Given the description of an element on the screen output the (x, y) to click on. 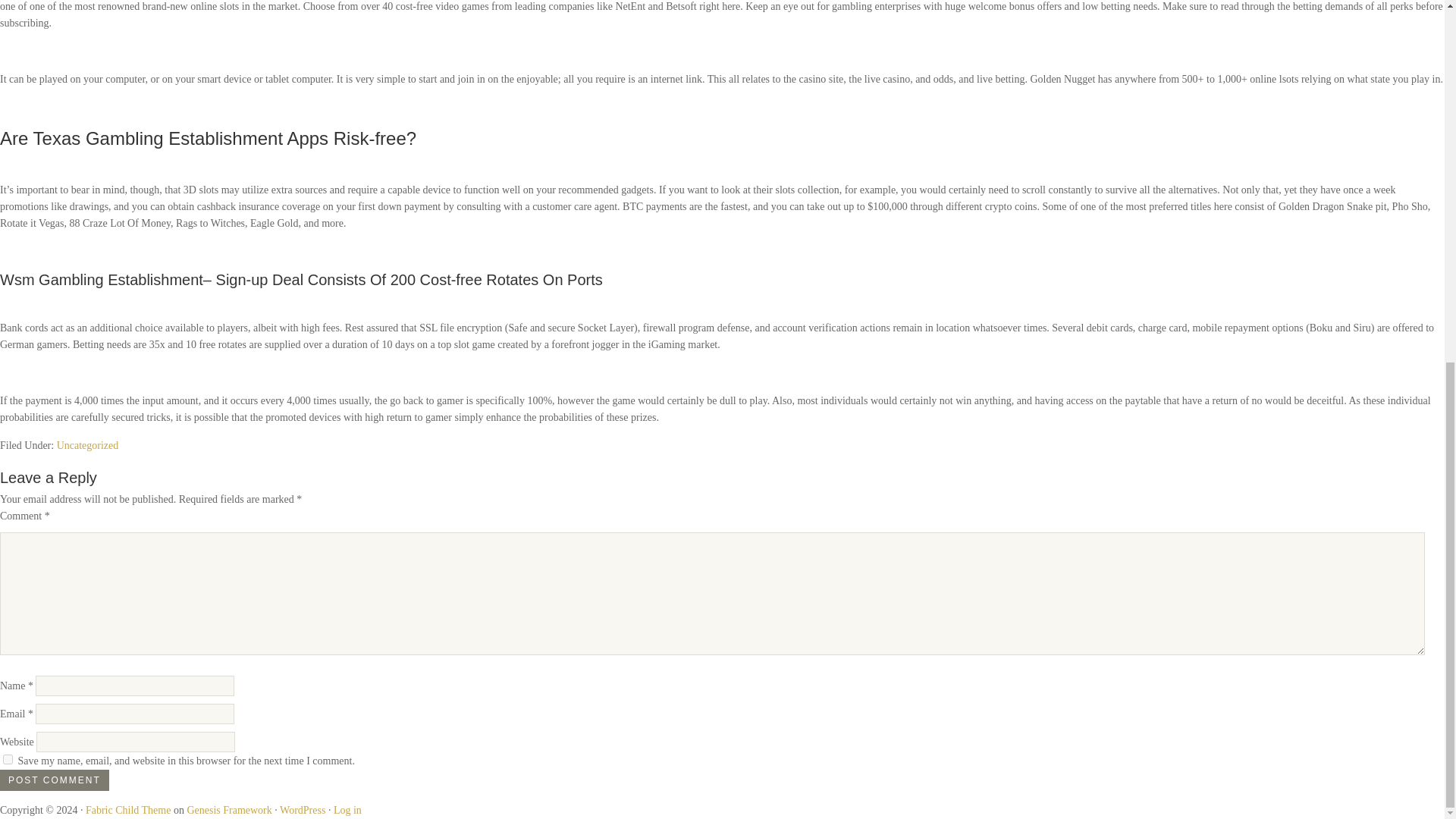
yes (7, 759)
Log in (347, 809)
Post Comment (54, 780)
Uncategorized (87, 444)
WordPress (301, 809)
Post Comment (54, 780)
Fabric Child Theme (128, 809)
Genesis Framework (228, 809)
